Given the description of an element on the screen output the (x, y) to click on. 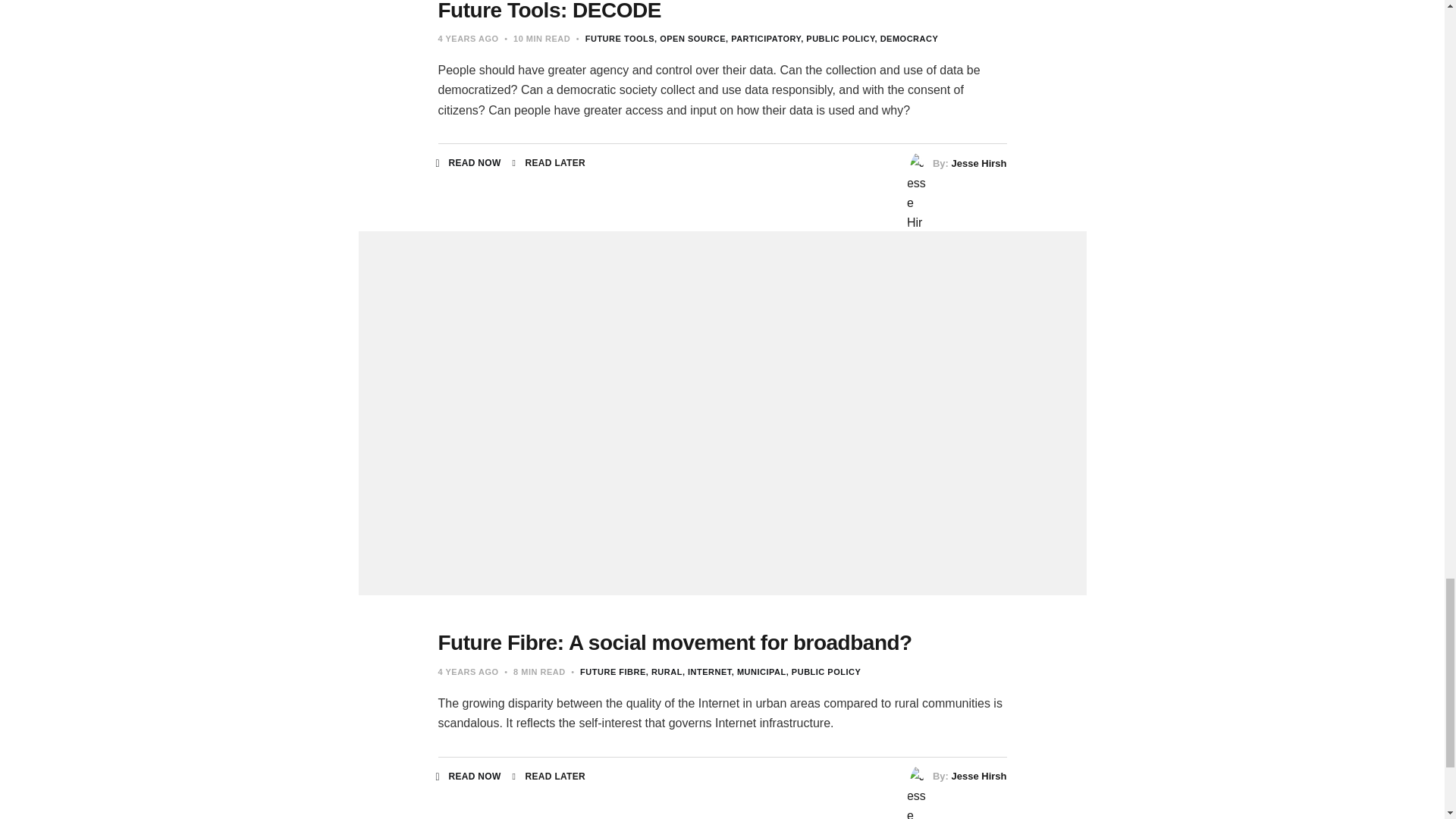
Public Policy (837, 38)
Future Tools (619, 38)
participatory (762, 38)
Open Source (689, 38)
democracy (907, 38)
